Given the description of an element on the screen output the (x, y) to click on. 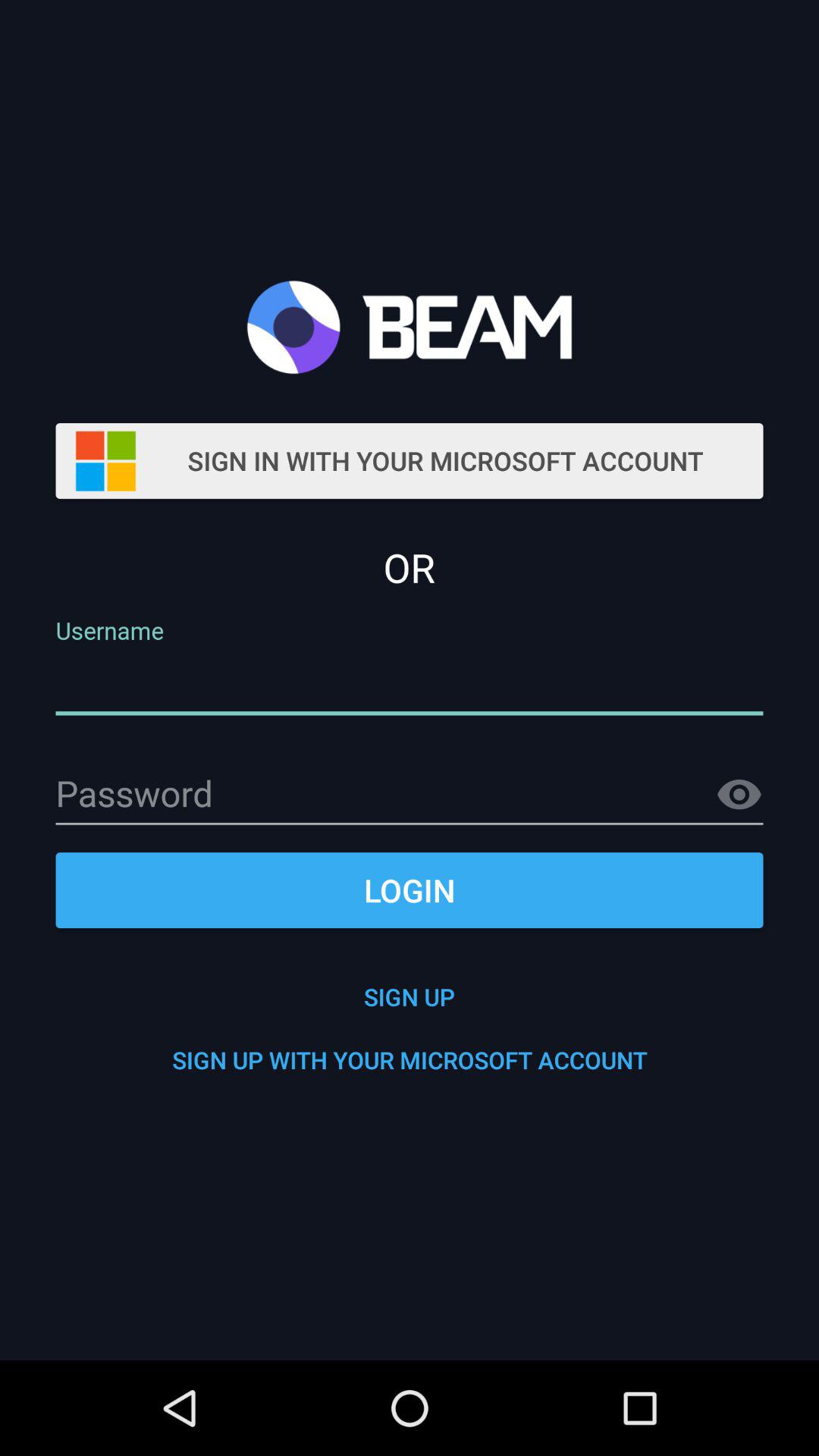
select the item above sign up item (409, 890)
